Given the description of an element on the screen output the (x, y) to click on. 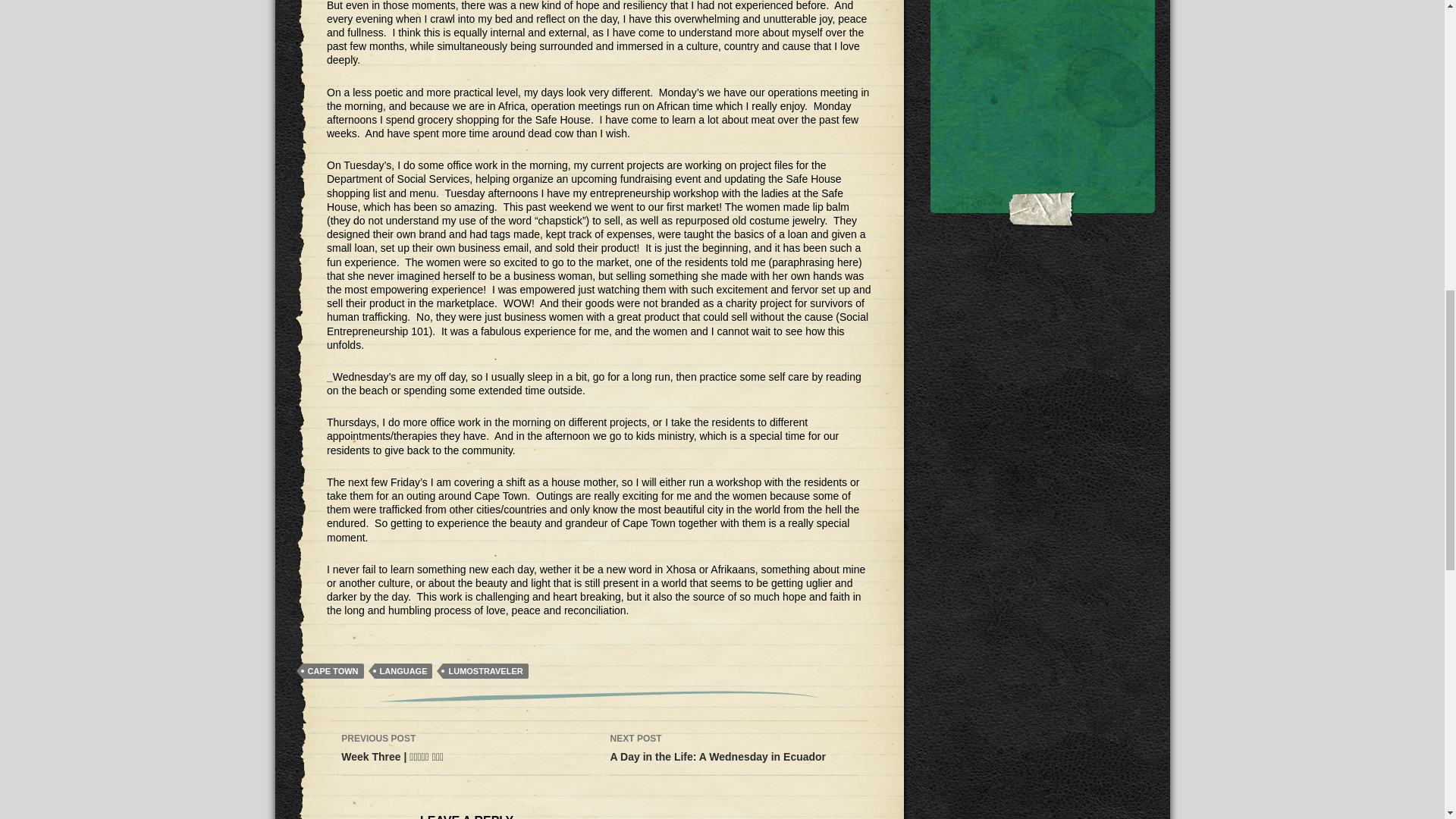
LANGUAGE (733, 747)
CAPE TOWN (403, 670)
LUMOSTRAVELER (331, 670)
